Given the description of an element on the screen output the (x, y) to click on. 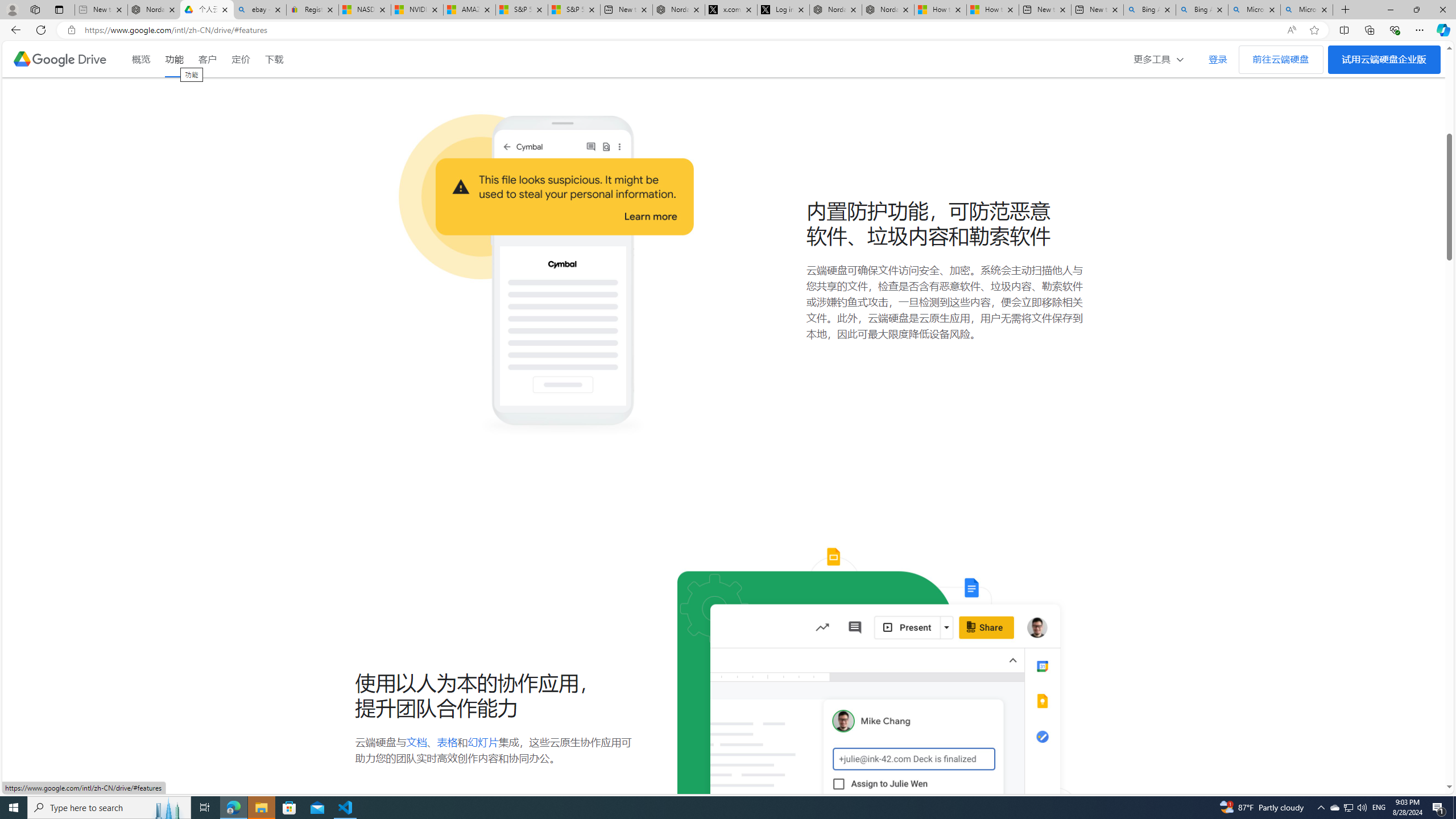
Microsoft Bing Timeline - Search (1306, 9)
